Given the description of an element on the screen output the (x, y) to click on. 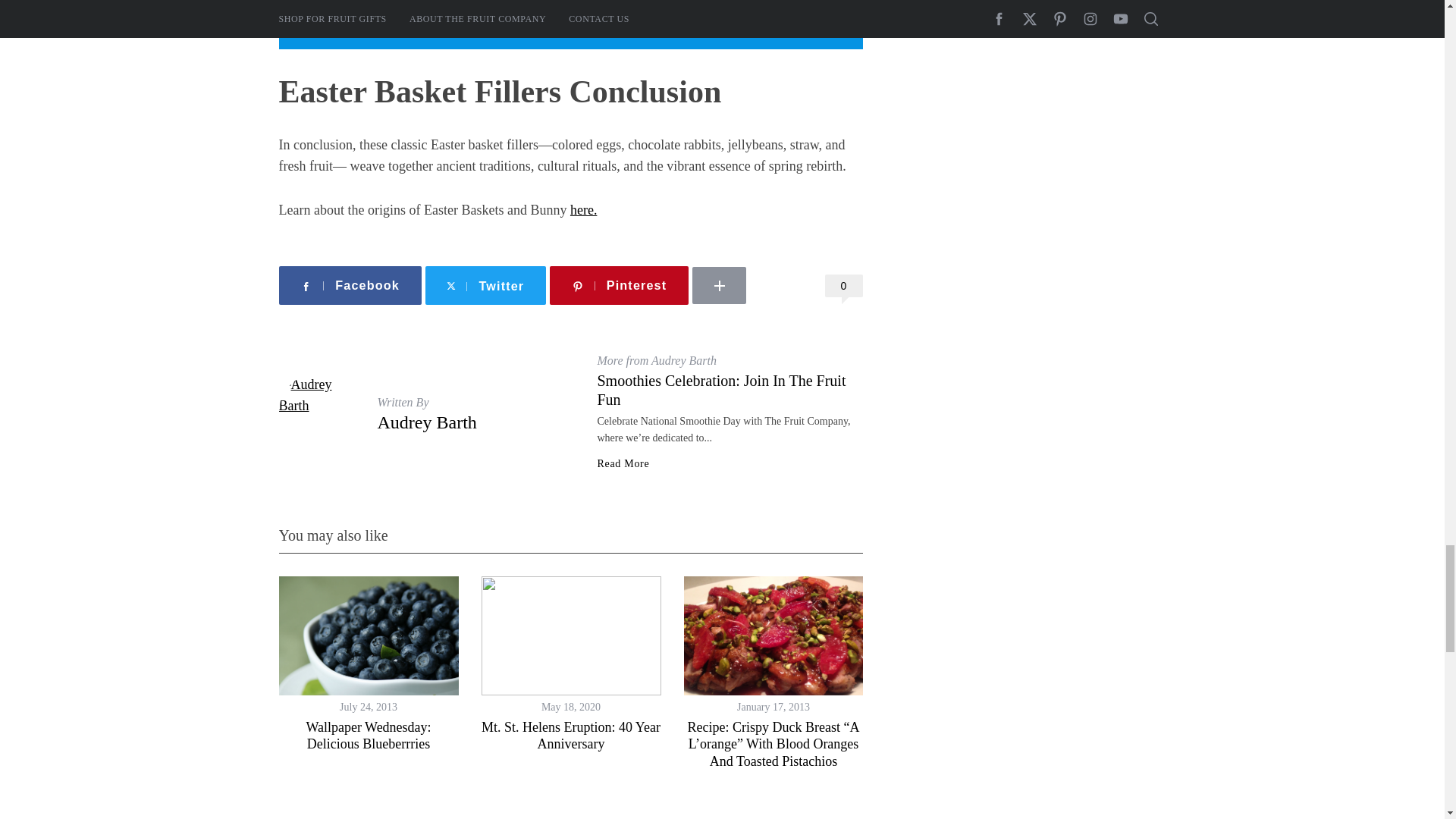
Smoothies Celebration: Join In The Fruit Fun (720, 389)
Mt. St. Helens Eruption: 40 Year Anniversary (571, 735)
0 (844, 285)
Audrey Barth (427, 422)
LINKEDIN (764, 260)
Pinterest (619, 285)
here. (583, 209)
Read More (622, 463)
Wallpaper Wednesday: Delicious Blueberrries (367, 735)
Facebook (350, 285)
Twitter (485, 285)
